Given the description of an element on the screen output the (x, y) to click on. 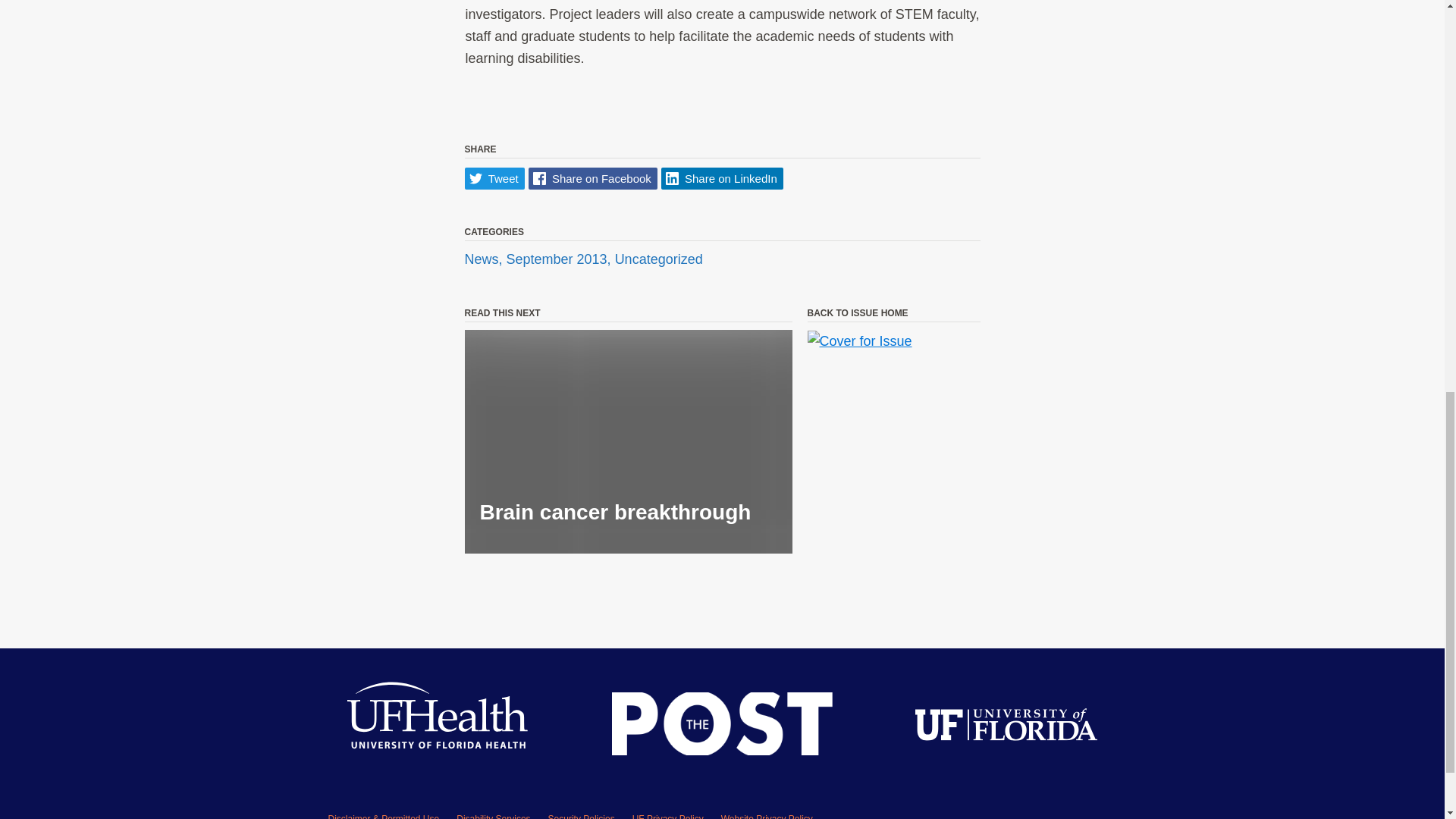
Publication Logo (721, 726)
September 2013, (560, 258)
Website Privacy Policy (766, 816)
Disability Services (493, 816)
University of Florida Logo (1005, 727)
News, (484, 258)
University of Florida (1005, 727)
UF Health Logo (437, 727)
UF Health (437, 727)
UF Privacy Policy (667, 816)
Security Policies (581, 816)
Share on Facebook (593, 178)
Tweet (494, 178)
Uncategorized (658, 258)
Brain cancer breakthrough (628, 441)
